Given the description of an element on the screen output the (x, y) to click on. 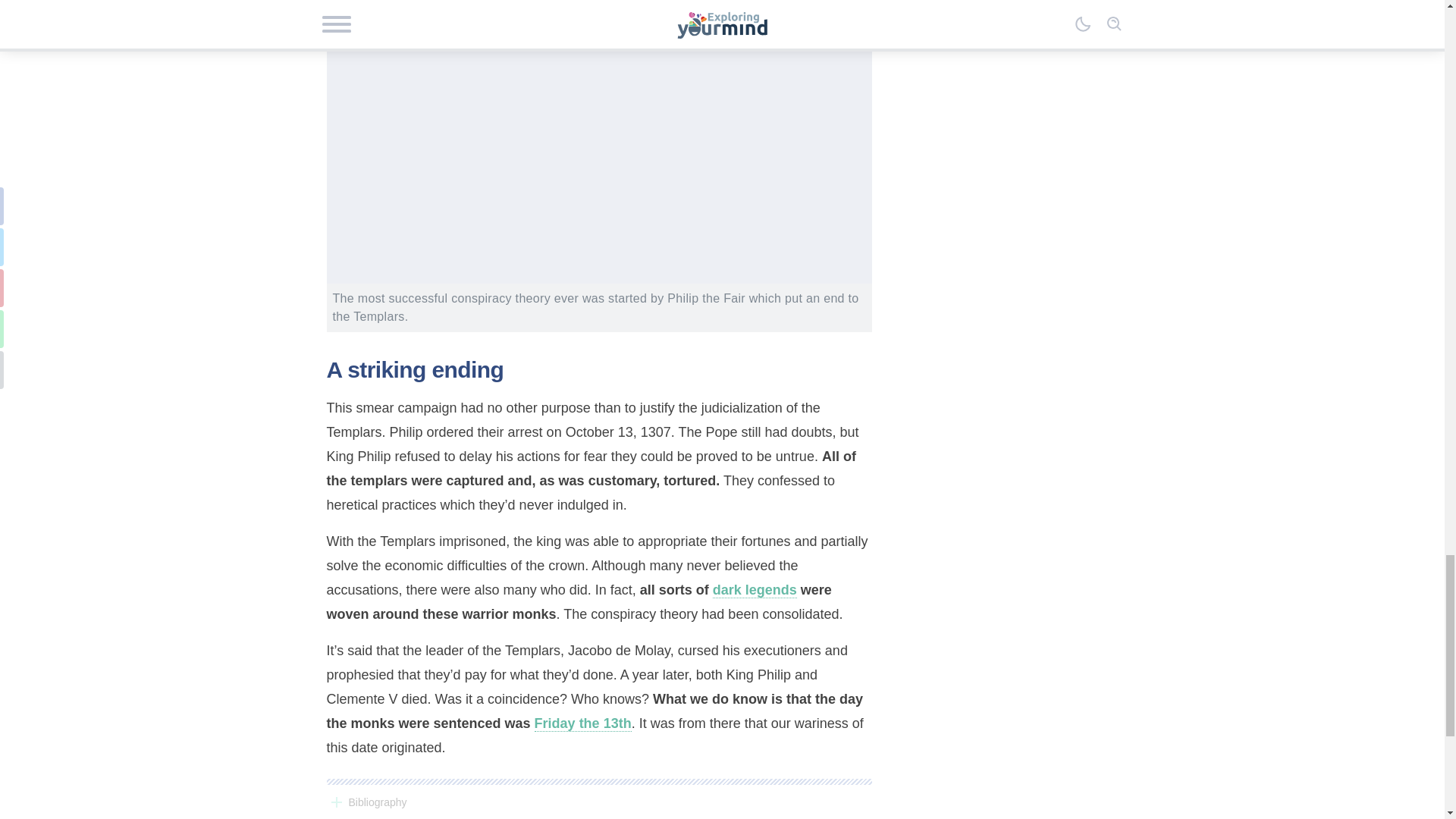
dark legends (754, 590)
Friday the 13th (582, 723)
Bibliography (598, 802)
